Given the description of an element on the screen output the (x, y) to click on. 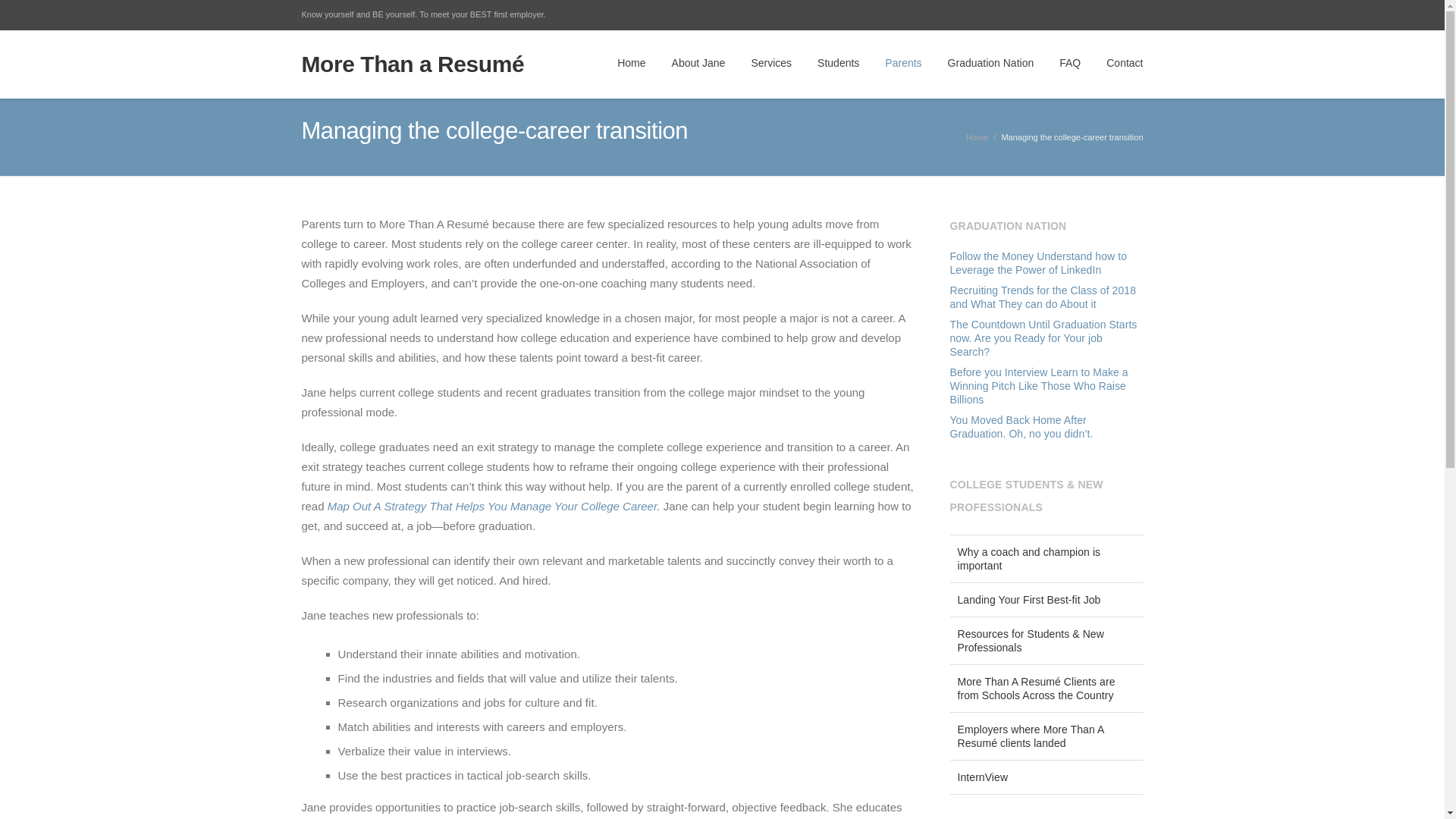
Twitter (1032, 15)
E-mail (1096, 15)
RSS (1127, 15)
Facebook (1000, 15)
LinkedIn (1064, 15)
Map Out A Strategy That Helps You Manage Your College Career (492, 505)
Graduation Nation (990, 64)
InternView (1045, 777)
Home (976, 136)
